Given the description of an element on the screen output the (x, y) to click on. 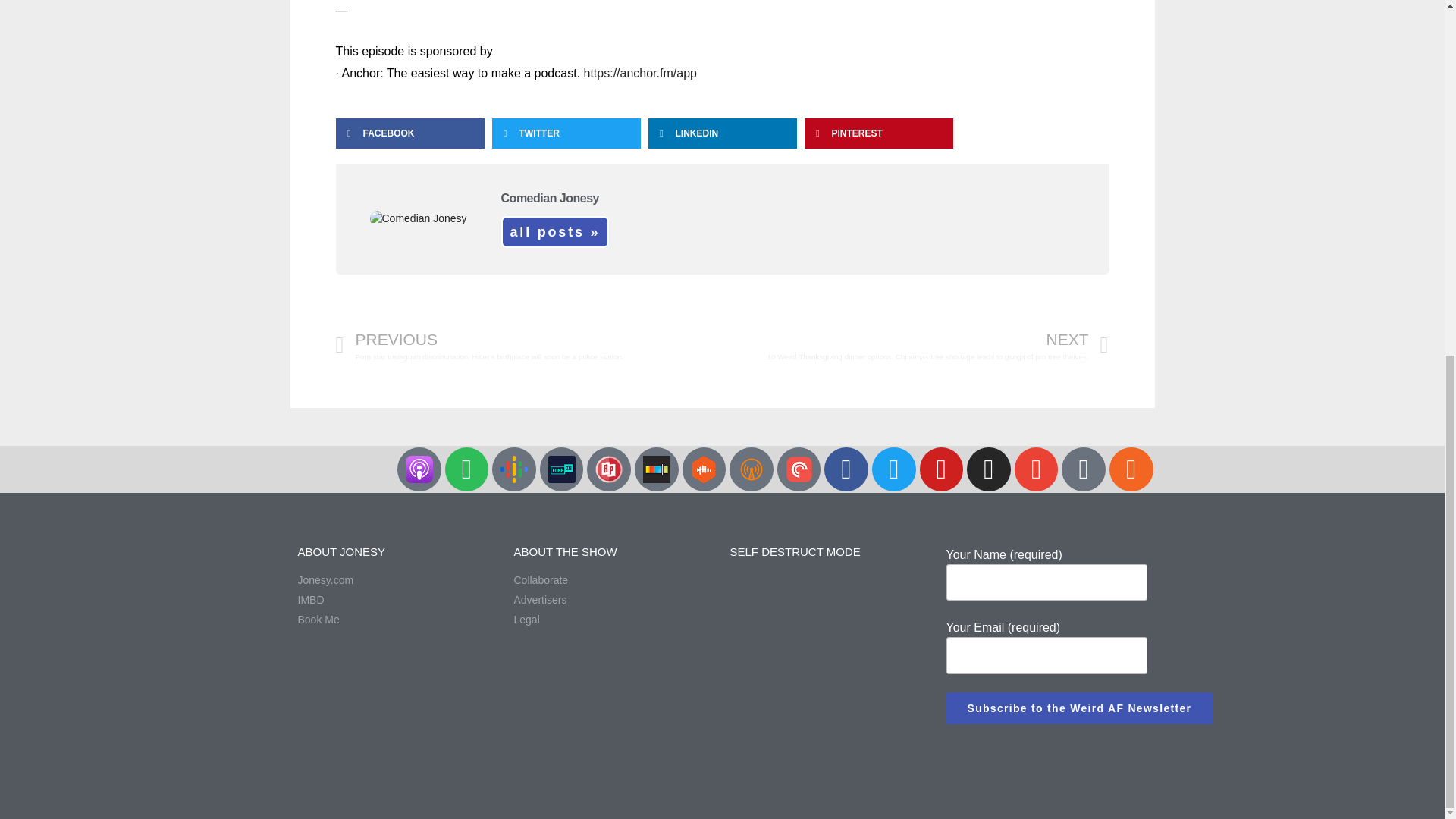
Subscribe to the Weird AF Newsletter (1079, 707)
